Given the description of an element on the screen output the (x, y) to click on. 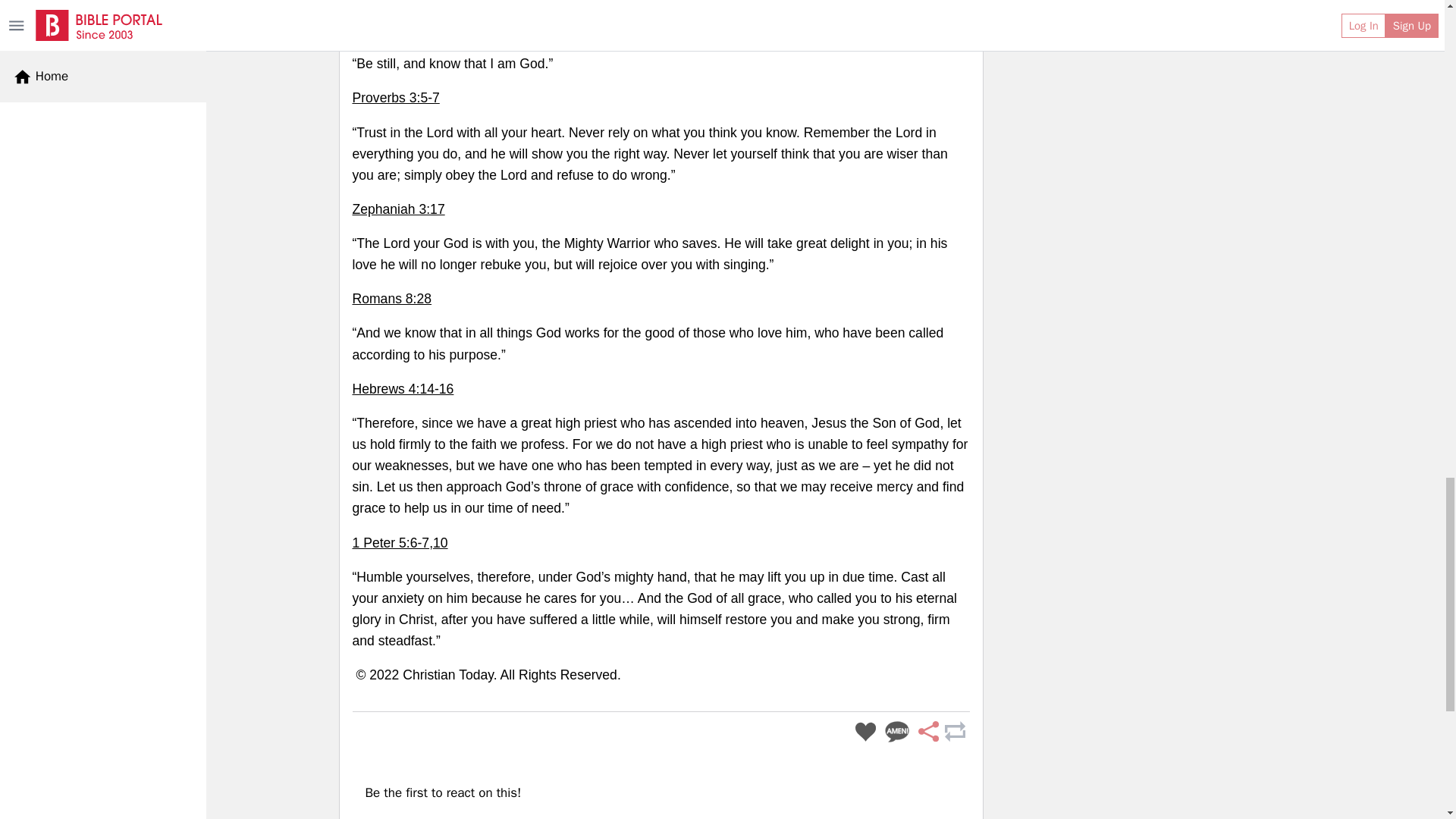
Repost (954, 731)
Like (865, 731)
Amen (897, 731)
